Given the description of an element on the screen output the (x, y) to click on. 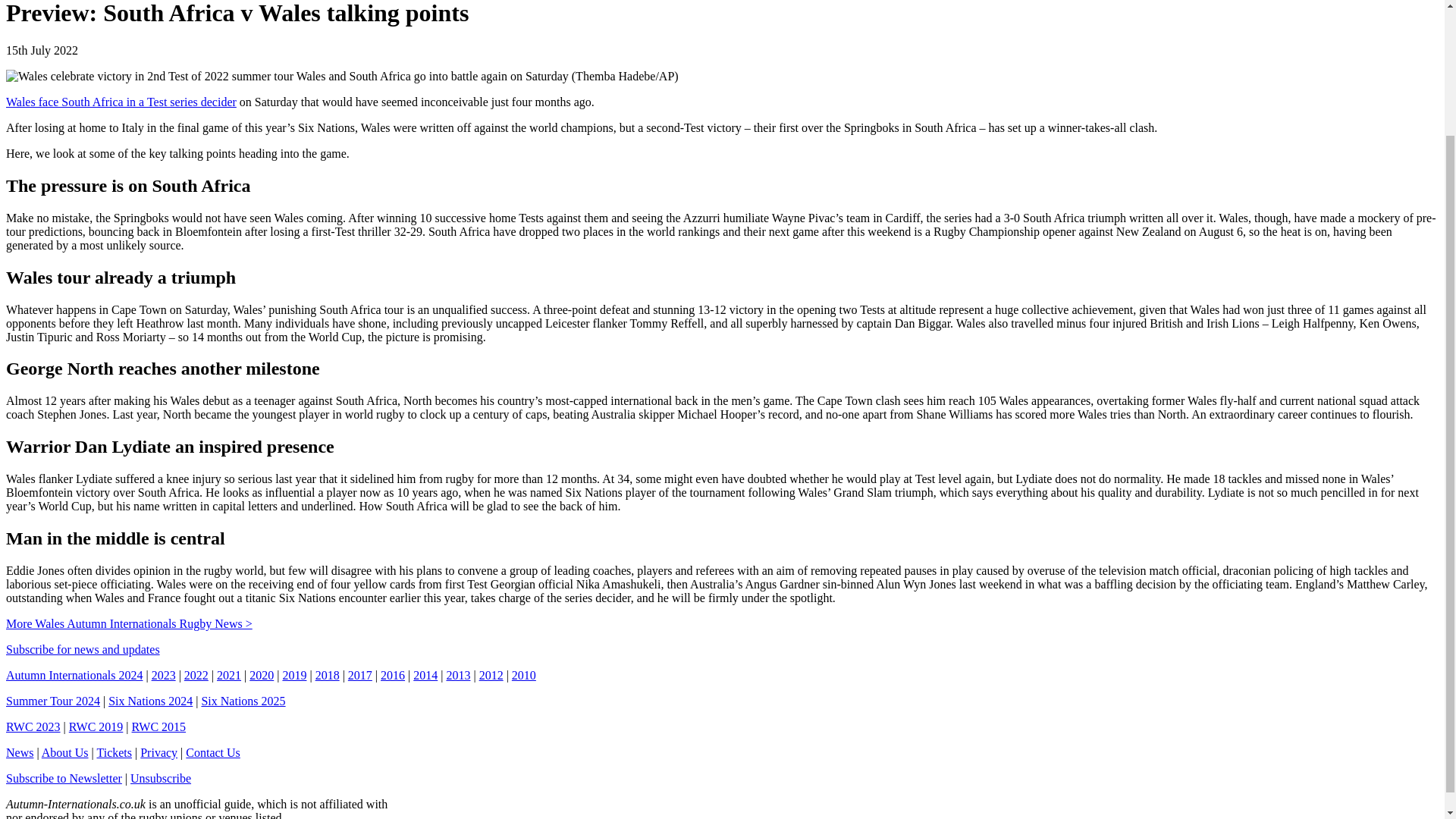
About Us (65, 752)
Rugby World Cup 2023 (33, 726)
Autumn Internationals 2024 (73, 675)
Six Nations 2025 (242, 700)
2023 (163, 675)
Subscribe to Newsletter (63, 778)
2022 (196, 675)
Rugby World Cup 2015 (159, 726)
Privacy (158, 752)
Six Nations 2024 (149, 700)
2012 (491, 675)
Summer Tour 2024 (52, 700)
Wales face South Africa in a Test series decider (120, 101)
2017 (359, 675)
Tickets (114, 752)
